Given the description of an element on the screen output the (x, y) to click on. 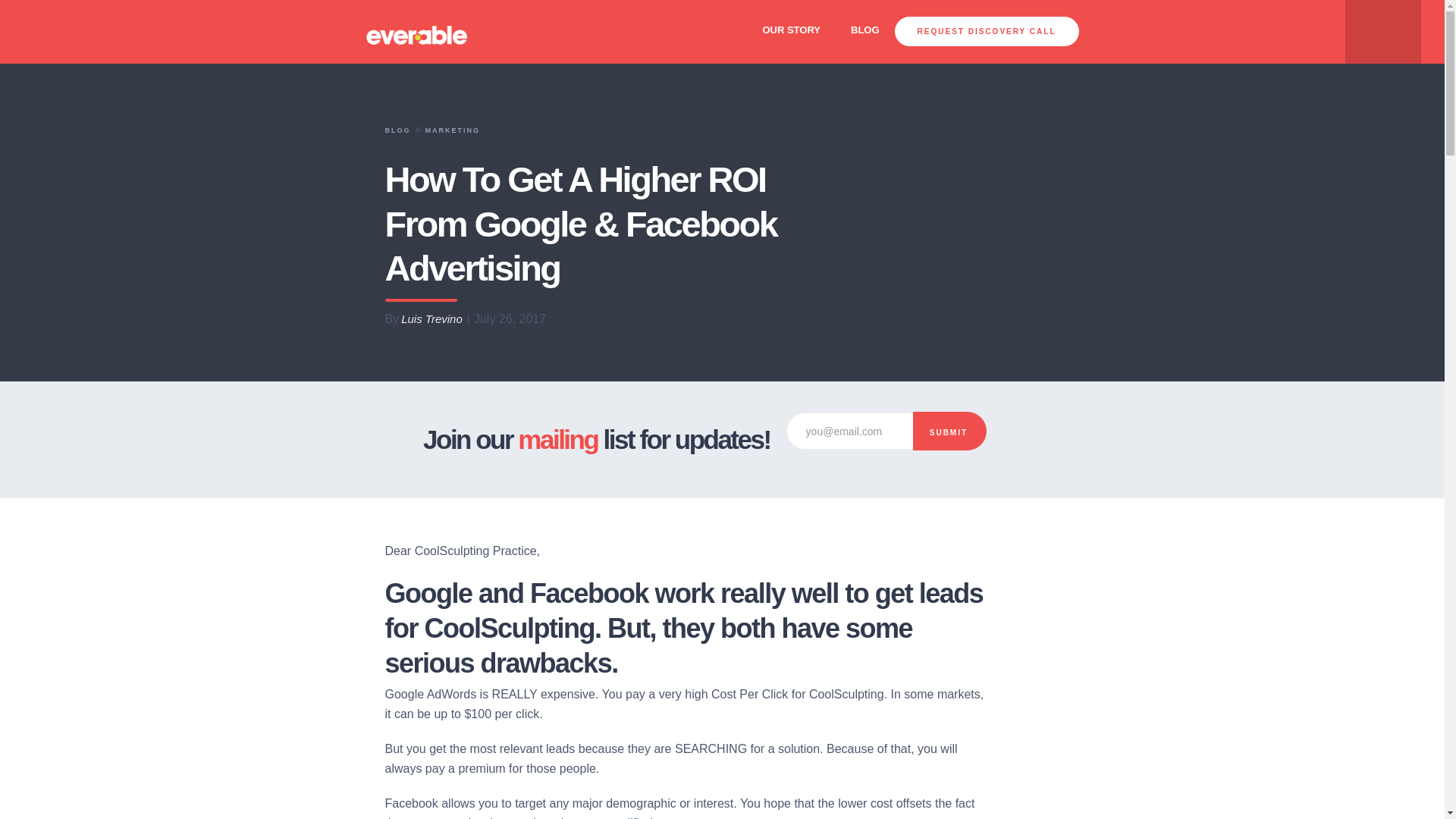
OUR STORY (790, 30)
Submit (949, 430)
Luis Trevino (432, 319)
REQUEST DISCOVERY CALL (986, 30)
BLOG (865, 30)
Submit (949, 430)
BLOG (397, 130)
MARKETING (452, 130)
